Given the description of an element on the screen output the (x, y) to click on. 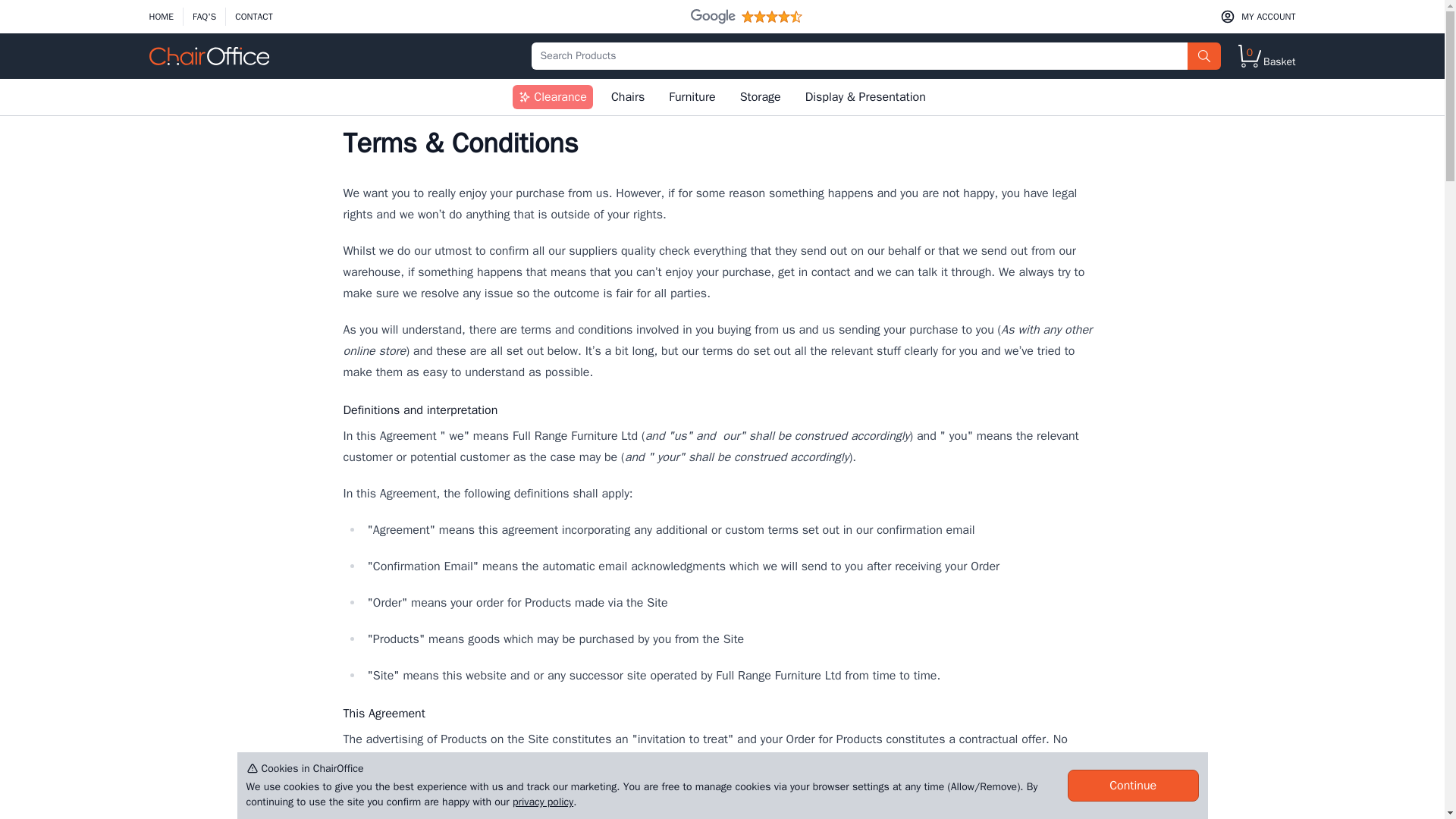
Furniture (691, 96)
FAQ'S (204, 16)
MY ACCOUNT (1257, 16)
Clearance (552, 96)
Chairs (1265, 55)
HOME (627, 96)
CONTACT (160, 16)
